Given the description of an element on the screen output the (x, y) to click on. 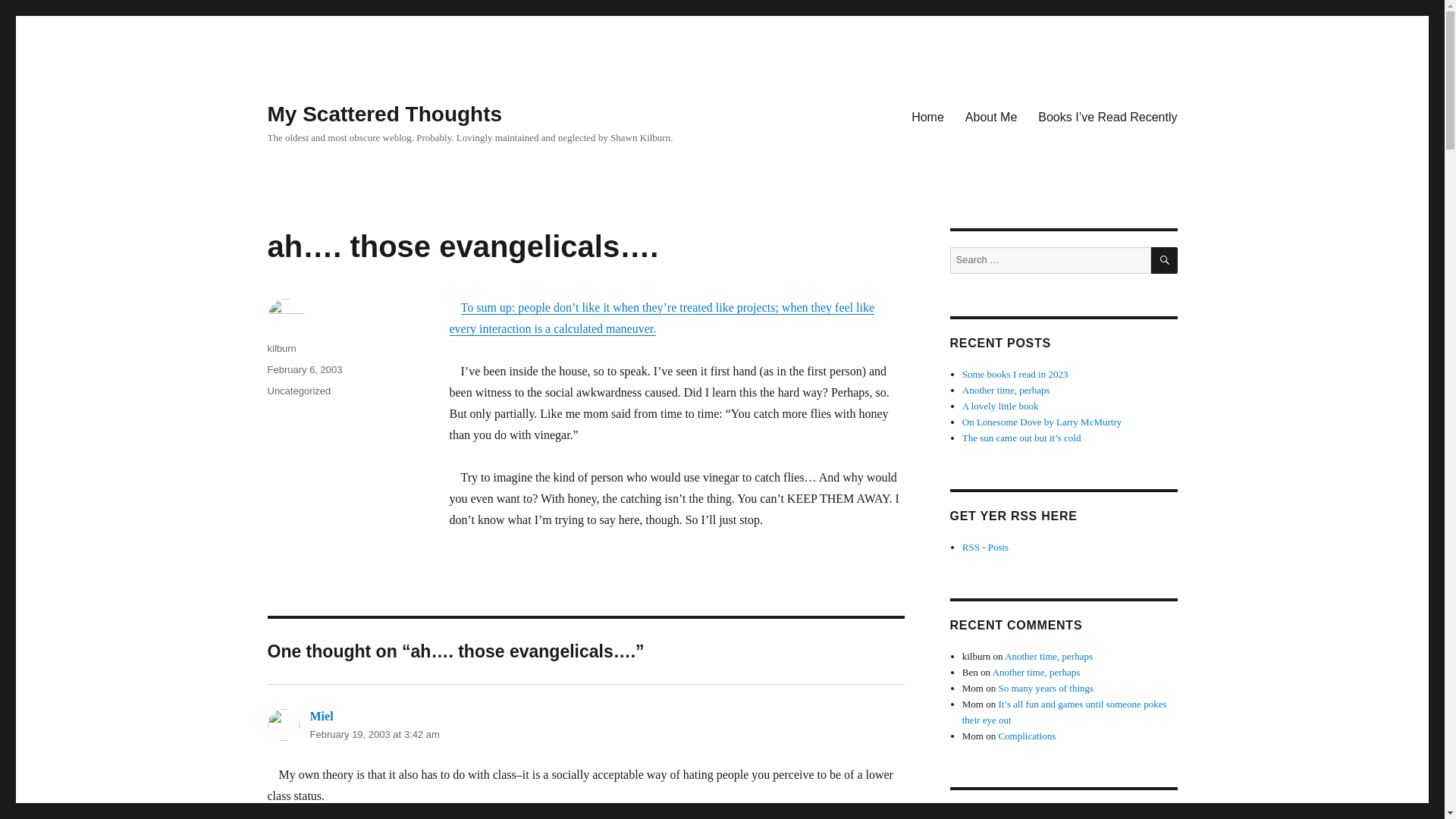
So many years of things (1045, 687)
Another time, perhaps (1005, 389)
kilburn (280, 348)
Subscribe to posts (985, 546)
On Lonesome Dove by Larry McMurtry (1041, 421)
RSS - Posts (985, 546)
A lovely little book (1000, 405)
Another time, perhaps (1035, 672)
February 6, 2003 (304, 369)
About Me (991, 116)
February 19, 2003 at 3:42 am (373, 734)
Complications (1026, 736)
Home (928, 116)
SEARCH (1164, 260)
My Scattered Thoughts (384, 114)
